Given the description of an element on the screen output the (x, y) to click on. 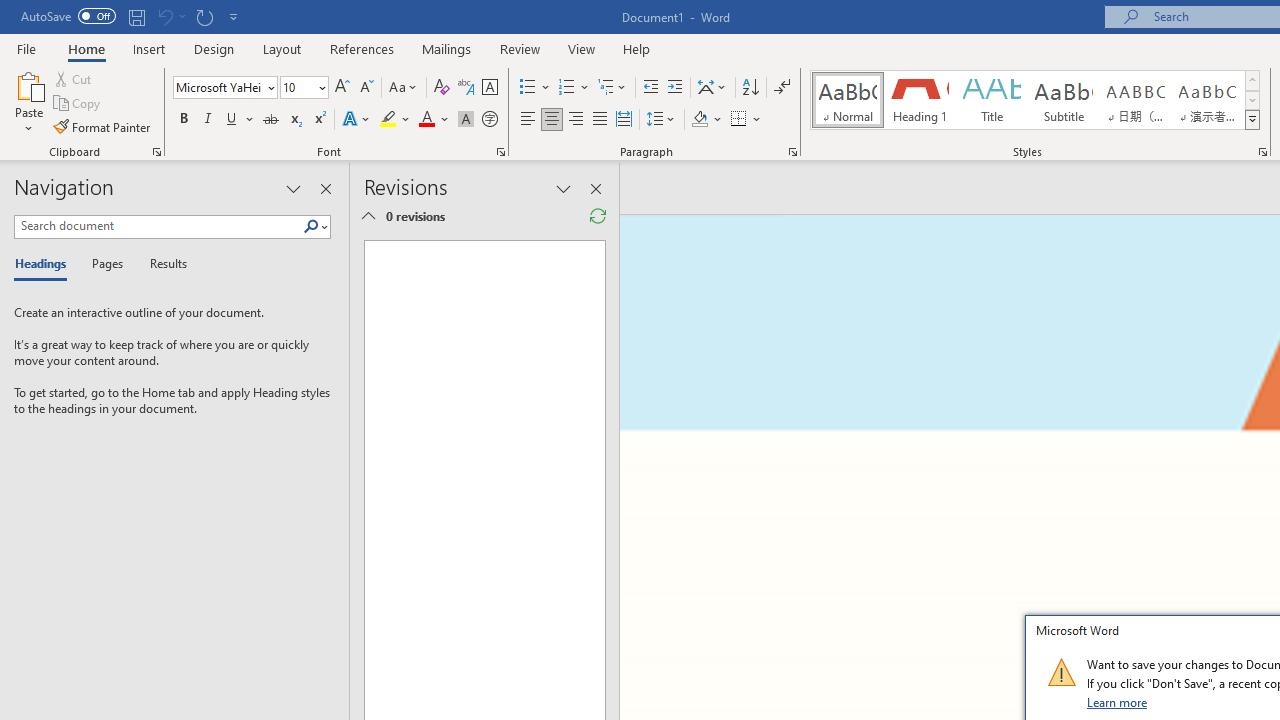
Show Detailed Summary (368, 215)
